Given the description of an element on the screen output the (x, y) to click on. 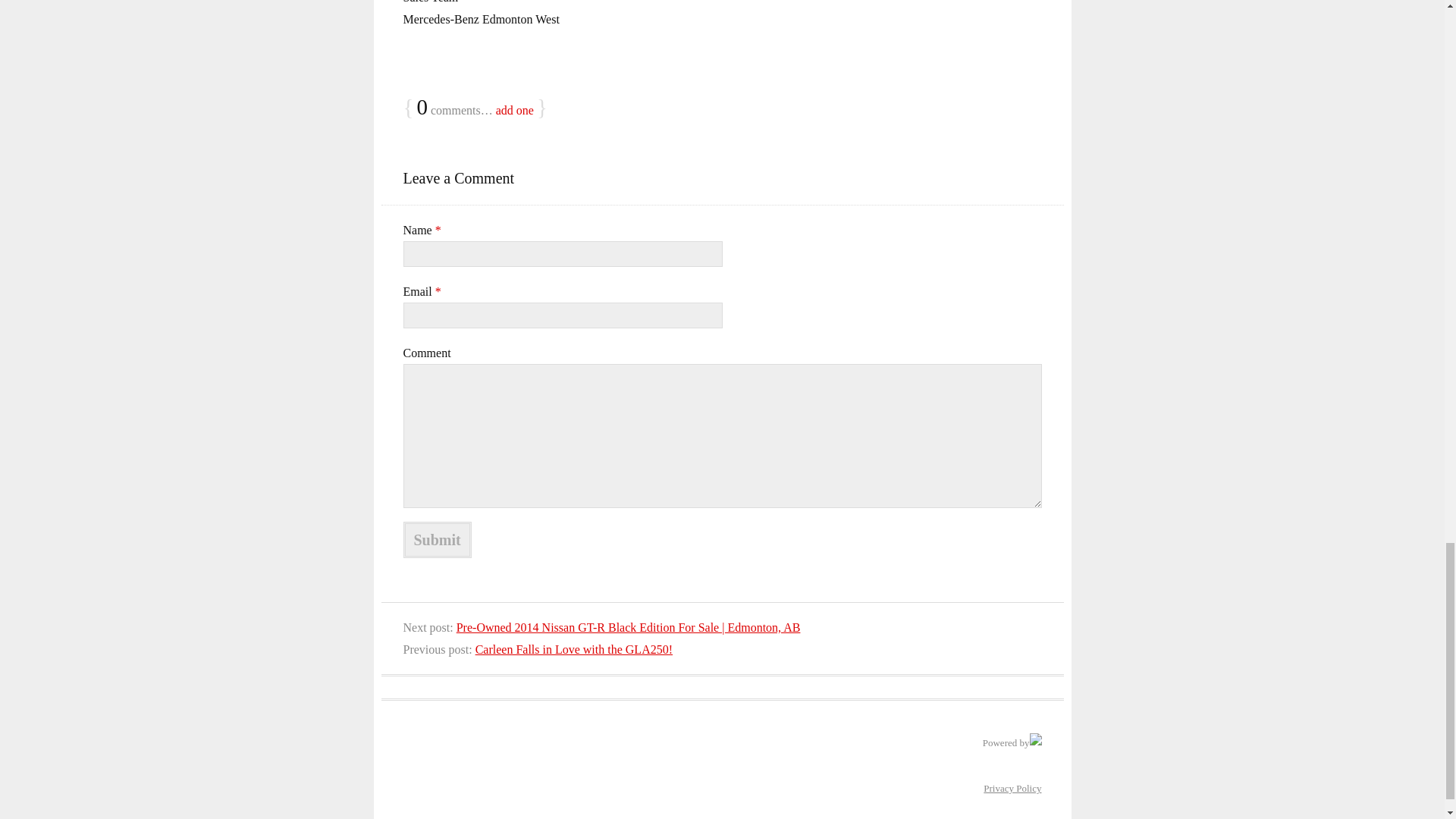
Submit (437, 539)
Carleen Falls in Love with the GLA250! (574, 649)
Privacy Policy (1012, 787)
Submit (437, 539)
add one (515, 110)
